Given the description of an element on the screen output the (x, y) to click on. 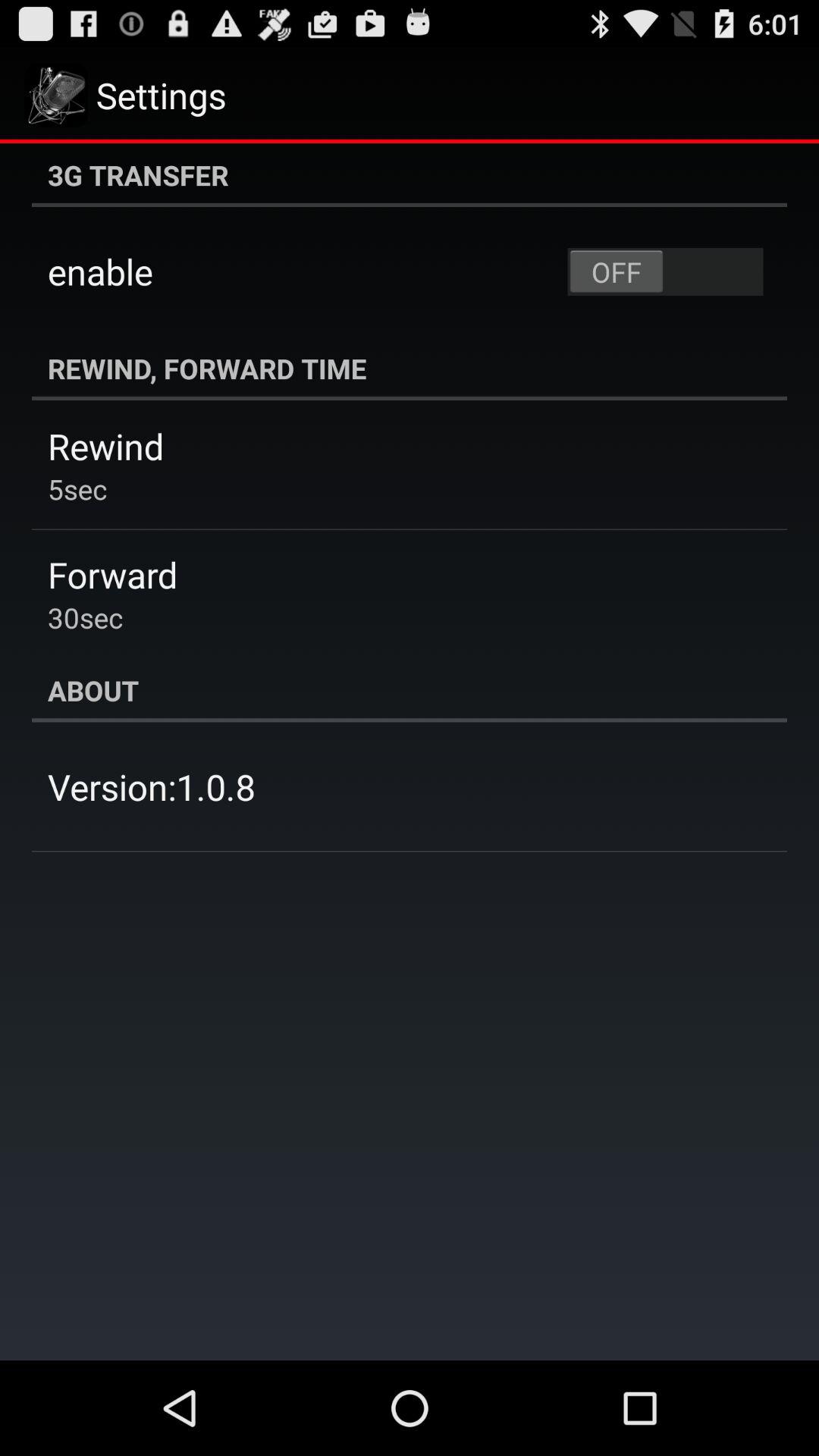
click app above rewind, forward time app (665, 271)
